Given the description of an element on the screen output the (x, y) to click on. 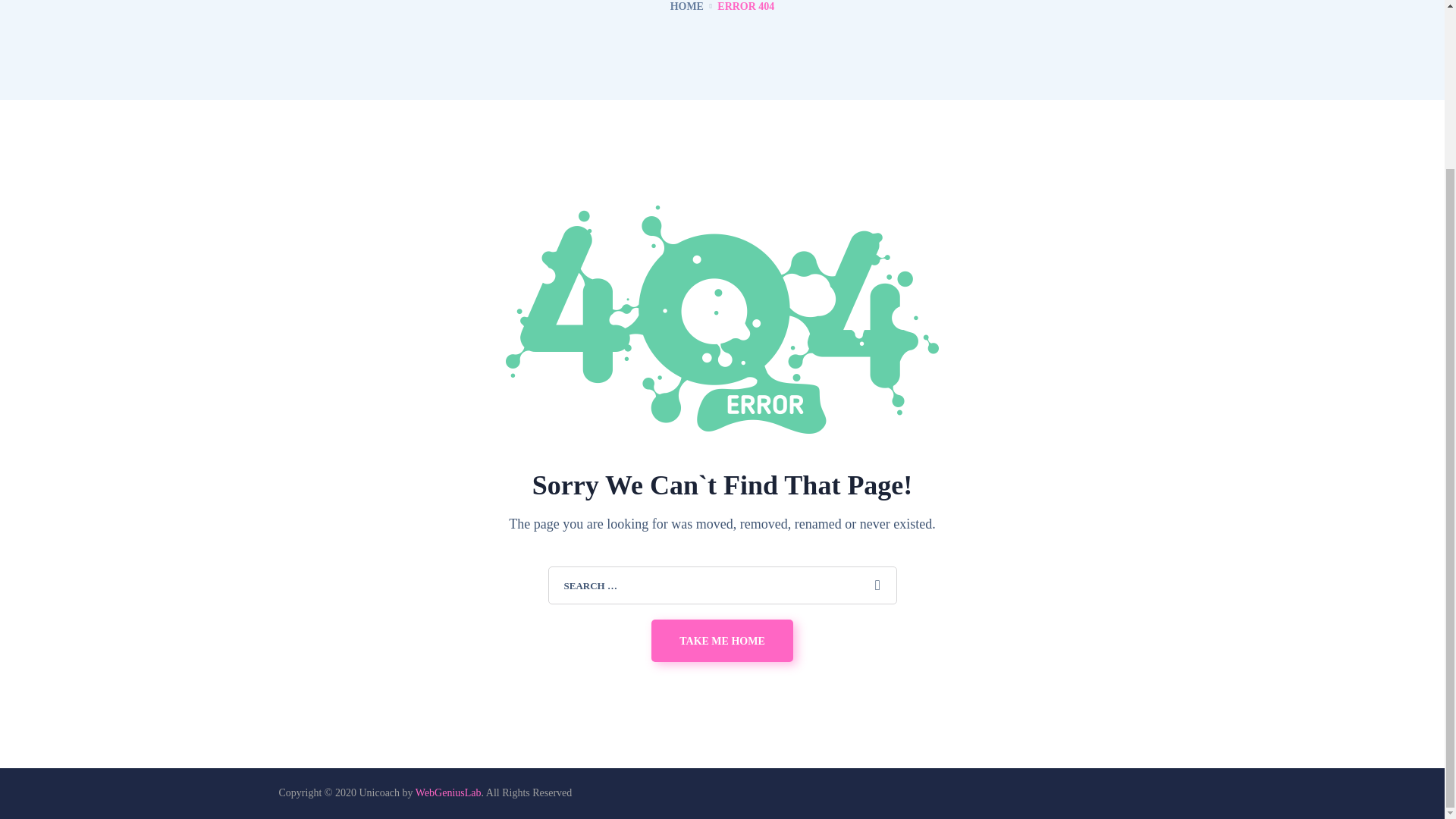
Search (877, 585)
HOME (686, 5)
WebGeniusLab (447, 792)
TAKE ME HOME (721, 640)
